Given the description of an element on the screen output the (x, y) to click on. 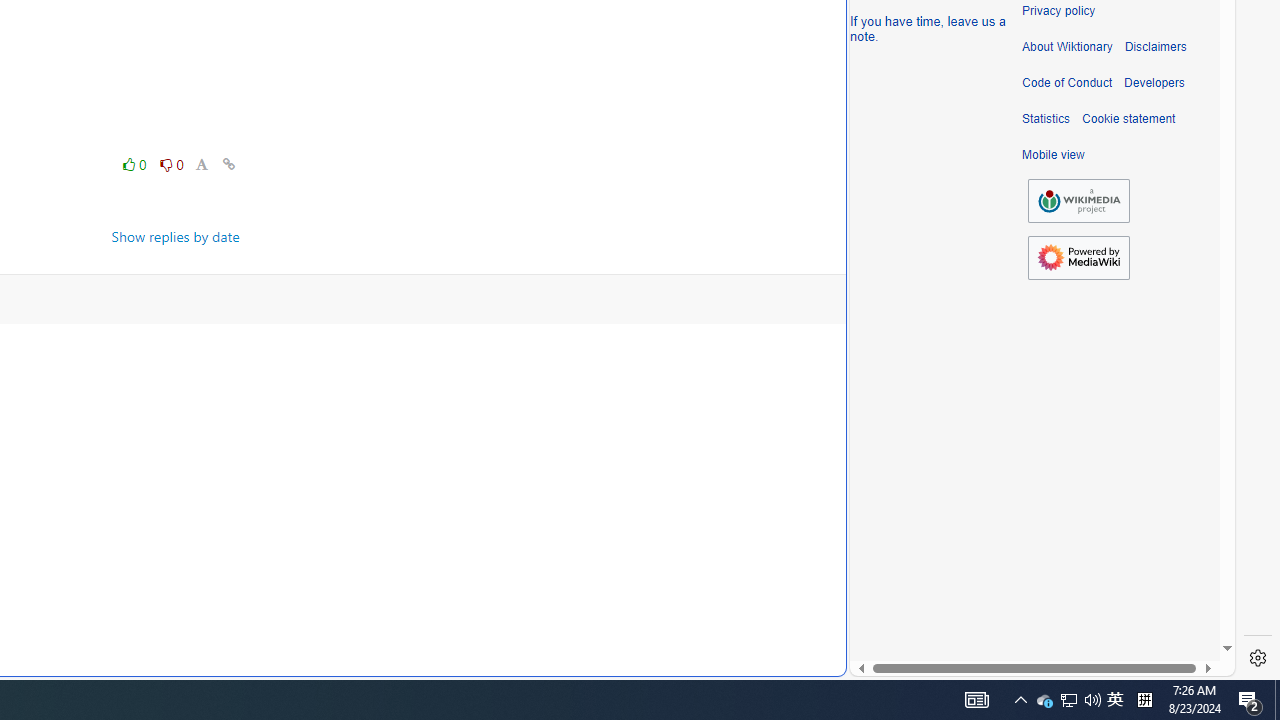
Developers (1154, 83)
Code of Conduct (1067, 83)
Disclaimers (1154, 47)
Powered by MediaWiki (1078, 257)
Wikimedia Foundation (1078, 200)
AutomationID: footer-copyrightico (1078, 200)
Privacy policy (1058, 11)
MSN (687, 223)
Wikimedia Foundation (1078, 201)
Powered by MediaWiki (1078, 257)
